Given the description of an element on the screen output the (x, y) to click on. 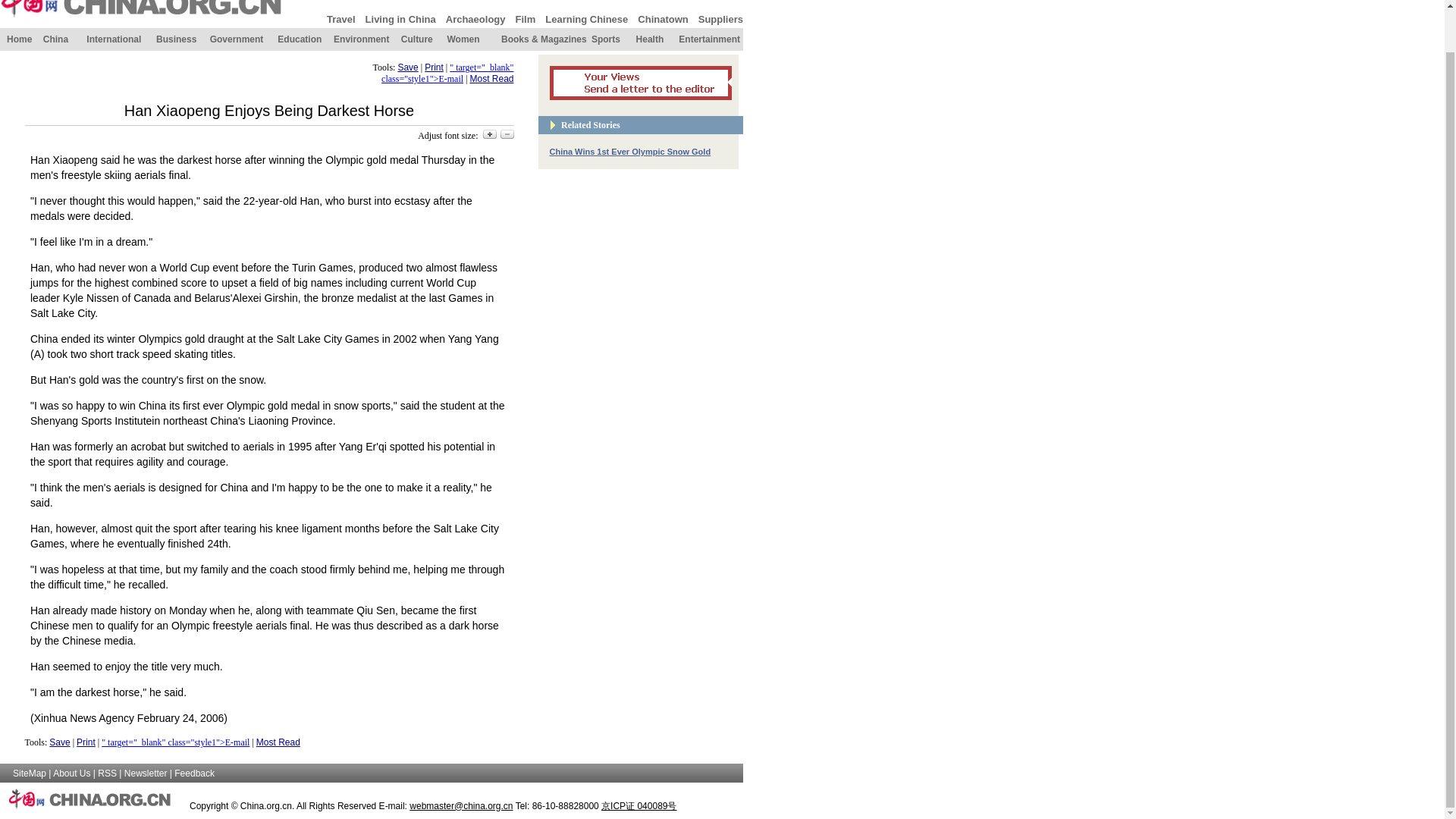
Save (407, 67)
China (55, 39)
Chinatown (662, 18)
Sports (605, 39)
Suppliers (720, 18)
Environment (360, 39)
Women (462, 39)
Learning Chinese (585, 18)
Travel (340, 18)
Entertainment (708, 39)
Archaeology (475, 18)
Film (525, 18)
Most Read (490, 78)
Living in China (400, 18)
Education (299, 39)
